Given the description of an element on the screen output the (x, y) to click on. 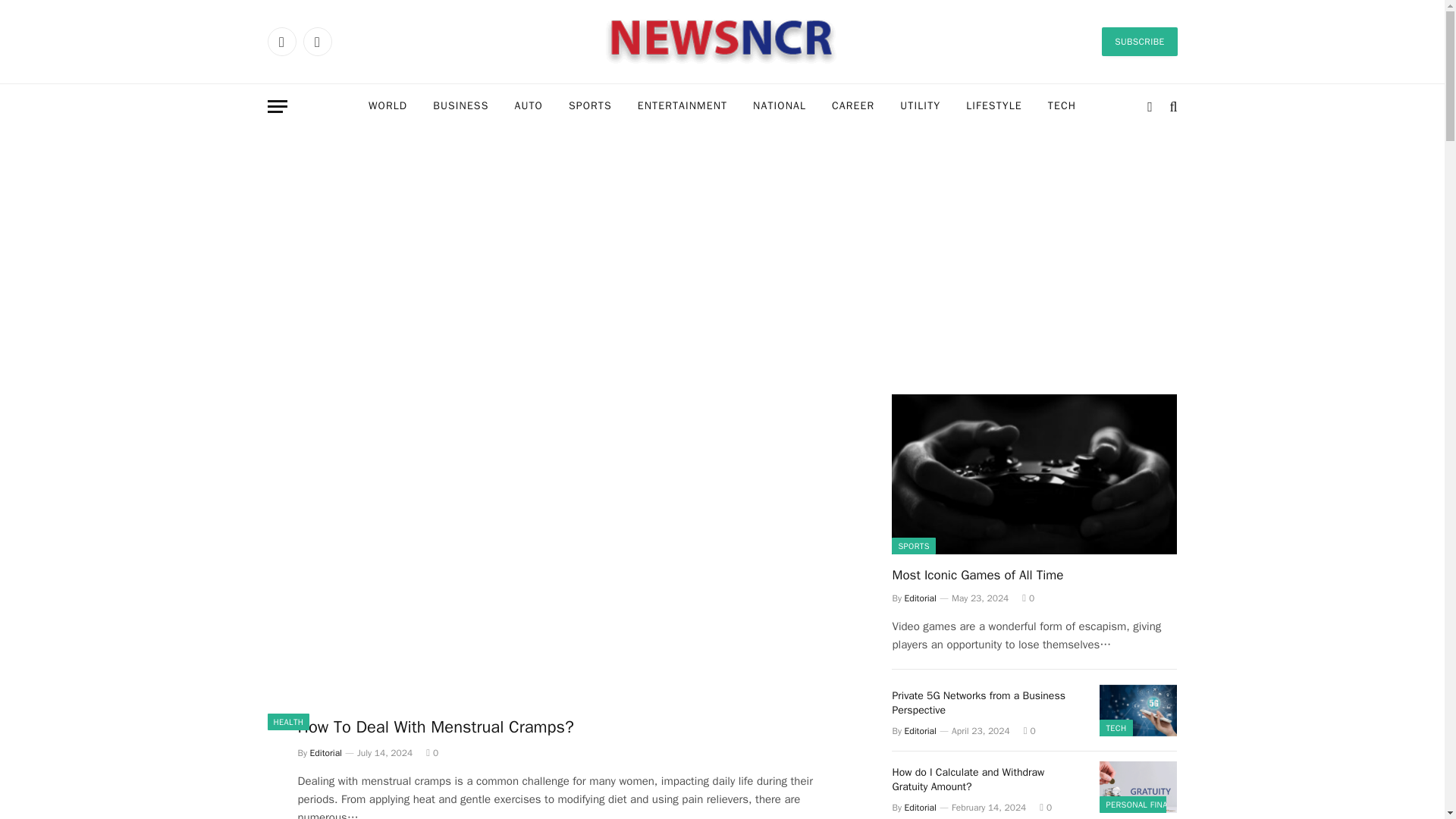
SUBSCRIBE (1139, 41)
Switch to Dark Design - easier on eyes. (1149, 106)
TECH (1062, 106)
Most Iconic Games of All Time (1033, 473)
WORLD (387, 106)
ENTERTAINMENT (681, 106)
AUTO (528, 106)
Facebook (280, 41)
LIFESTYLE (994, 106)
UTILITY (919, 106)
